Given the description of an element on the screen output the (x, y) to click on. 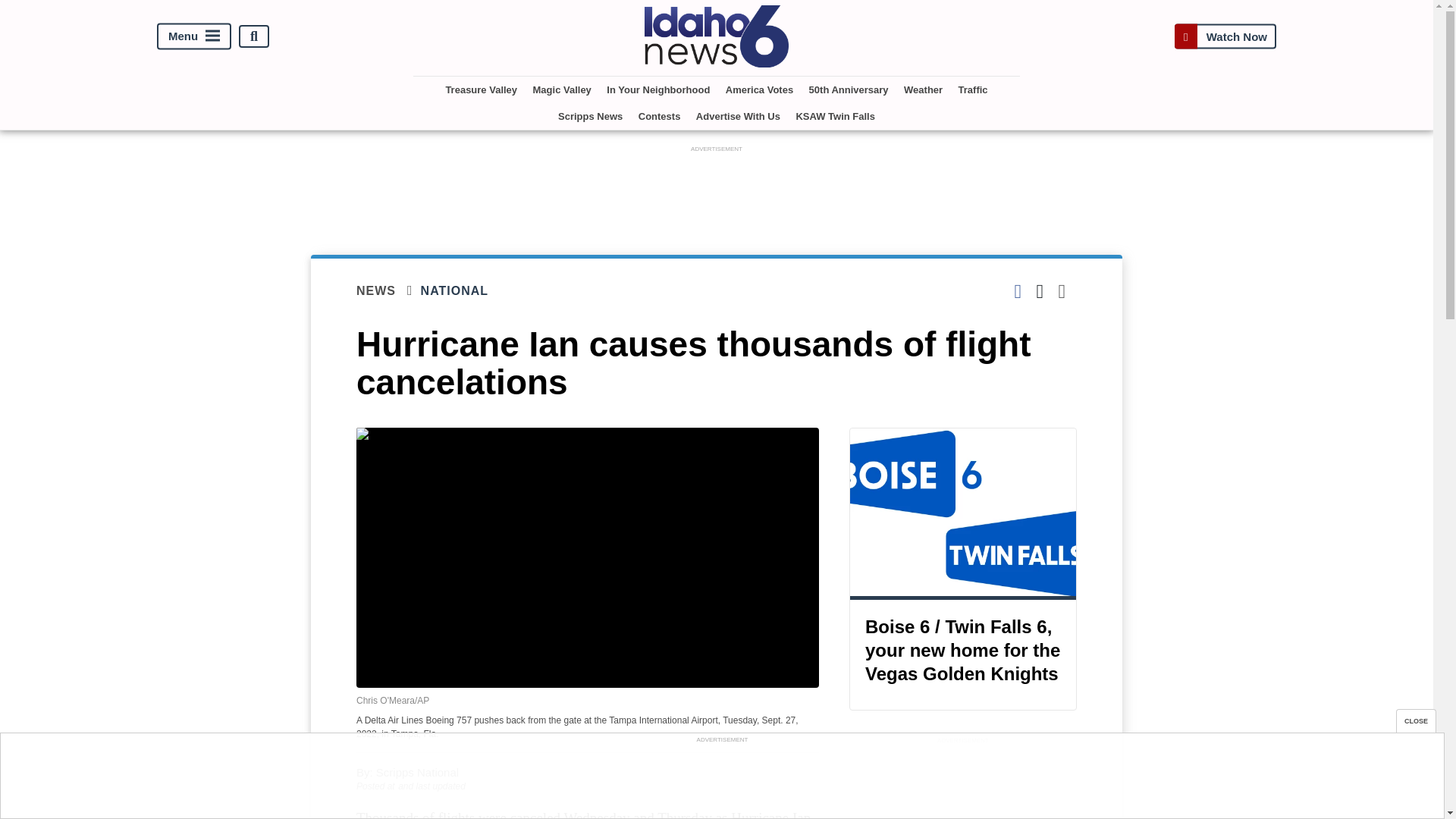
Watch Now (1224, 36)
3rd party ad content (721, 780)
Menu (194, 36)
3rd party ad content (962, 783)
3rd party ad content (716, 190)
